Given the description of an element on the screen output the (x, y) to click on. 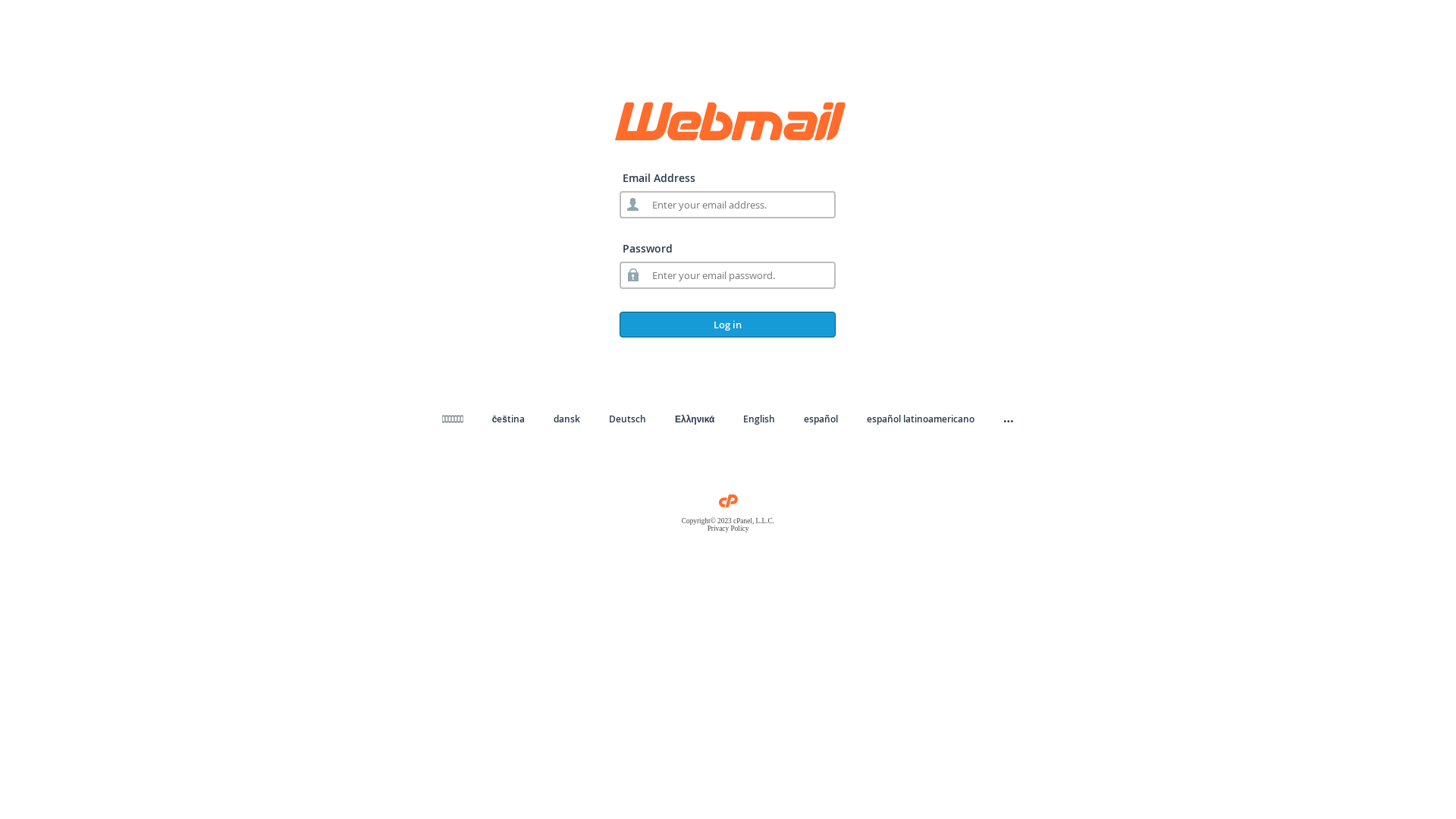
Privacy Policy Element type: text (728, 528)
Log in Element type: text (727, 324)
Deutsch Element type: text (627, 418)
dansk Element type: text (566, 418)
English Element type: text (759, 418)
